Given the description of an element on the screen output the (x, y) to click on. 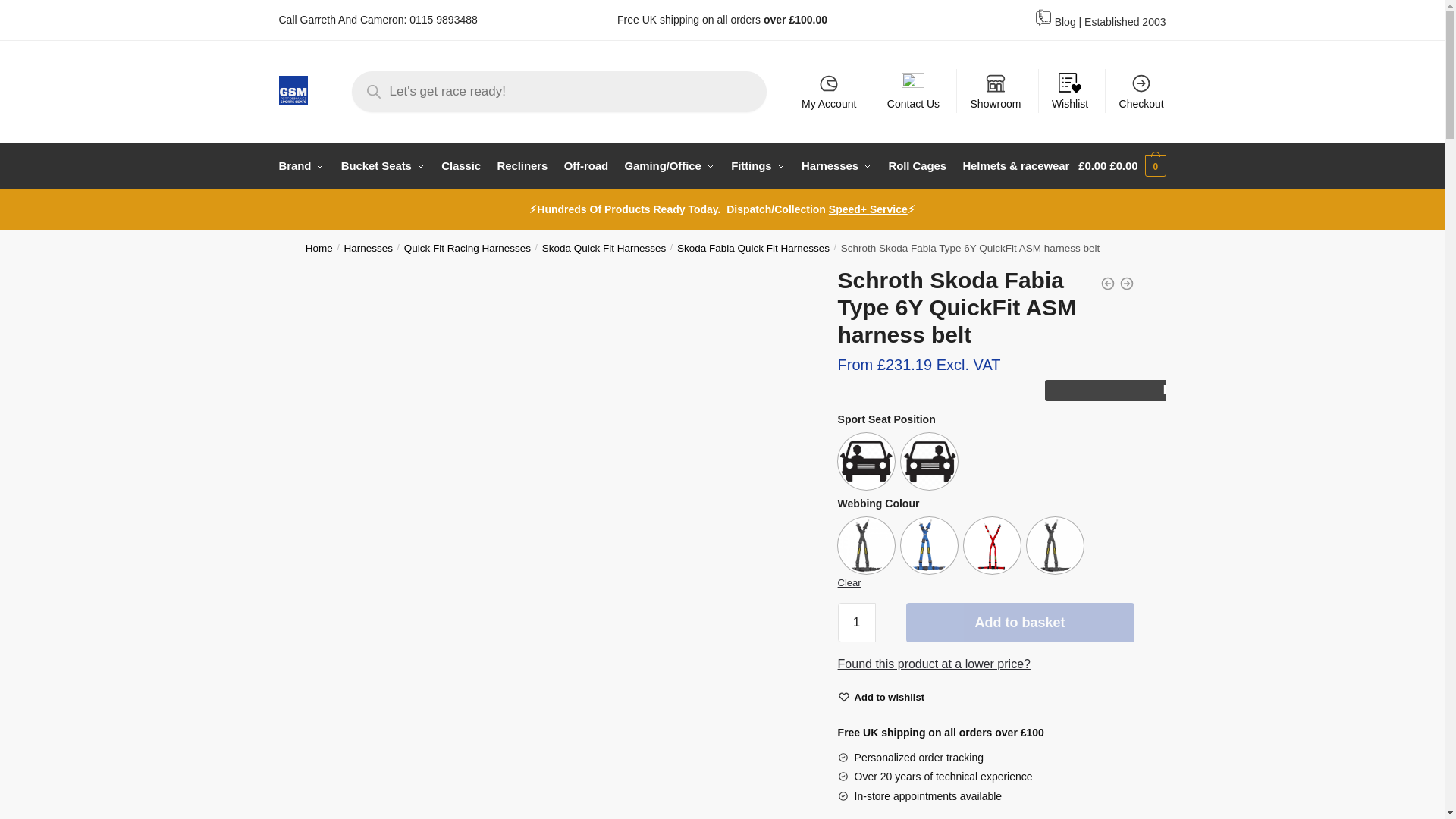
Showroom (994, 90)
With tax removed (1123, 164)
With tax added (1093, 164)
1 (857, 622)
View your shopping cart (1122, 166)
Wishlist (1069, 90)
My Account (829, 90)
Brand (305, 166)
Contact Us (913, 90)
Established 2003 (1125, 21)
